Given the description of an element on the screen output the (x, y) to click on. 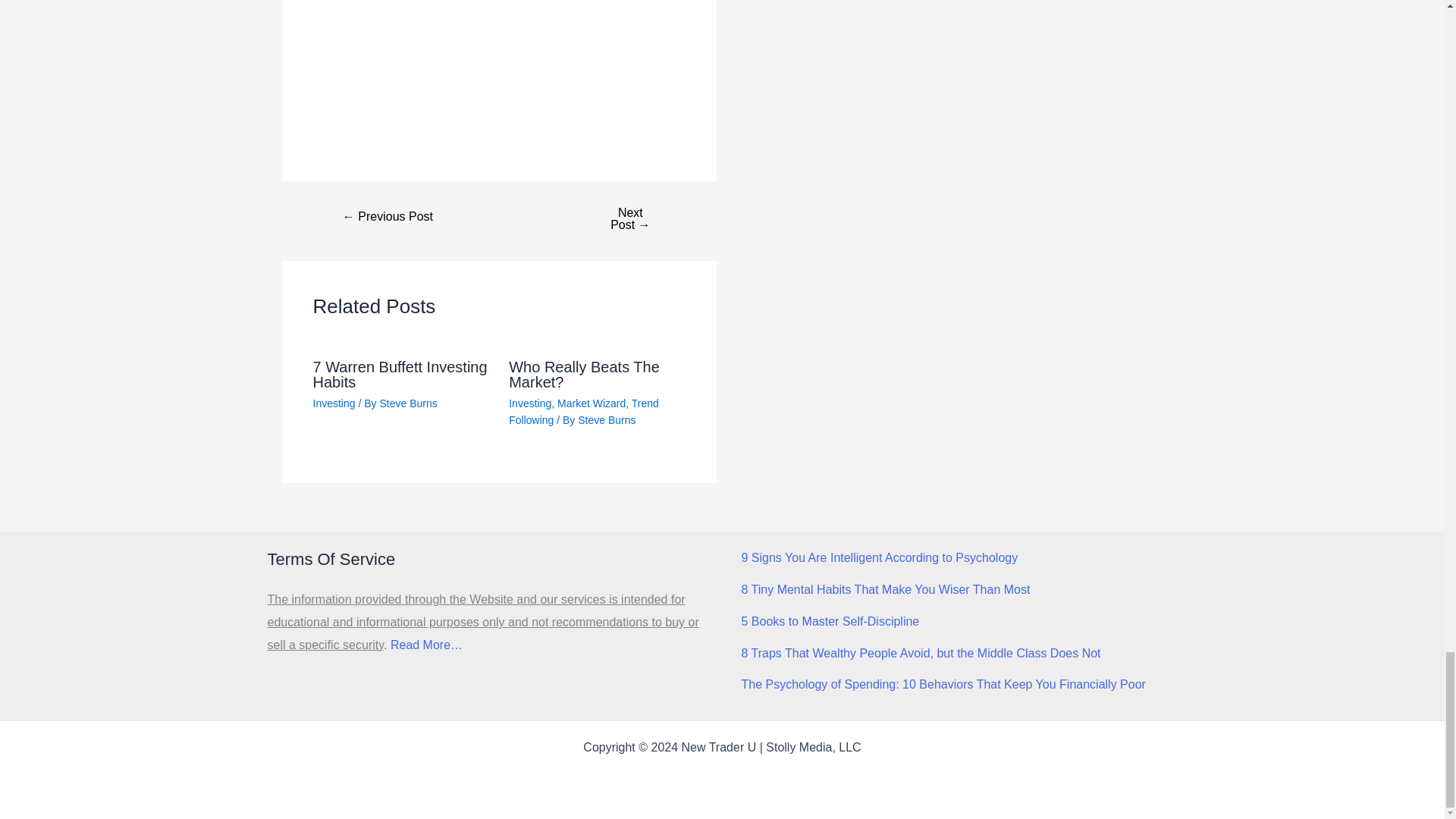
Investing (334, 403)
Investing (529, 403)
7 Warren Buffett Investing Habits (399, 374)
Top Ten Warren Buffett Investment Quotes 3 (476, 6)
Trend Following (583, 411)
View all posts by Steve Burns (606, 419)
Market Wizard (591, 403)
View all posts by Steve Burns (407, 403)
What Is The Dogs Of The Dow Strategy? (630, 218)
Who Really Beats The Market? (583, 374)
